Given the description of an element on the screen output the (x, y) to click on. 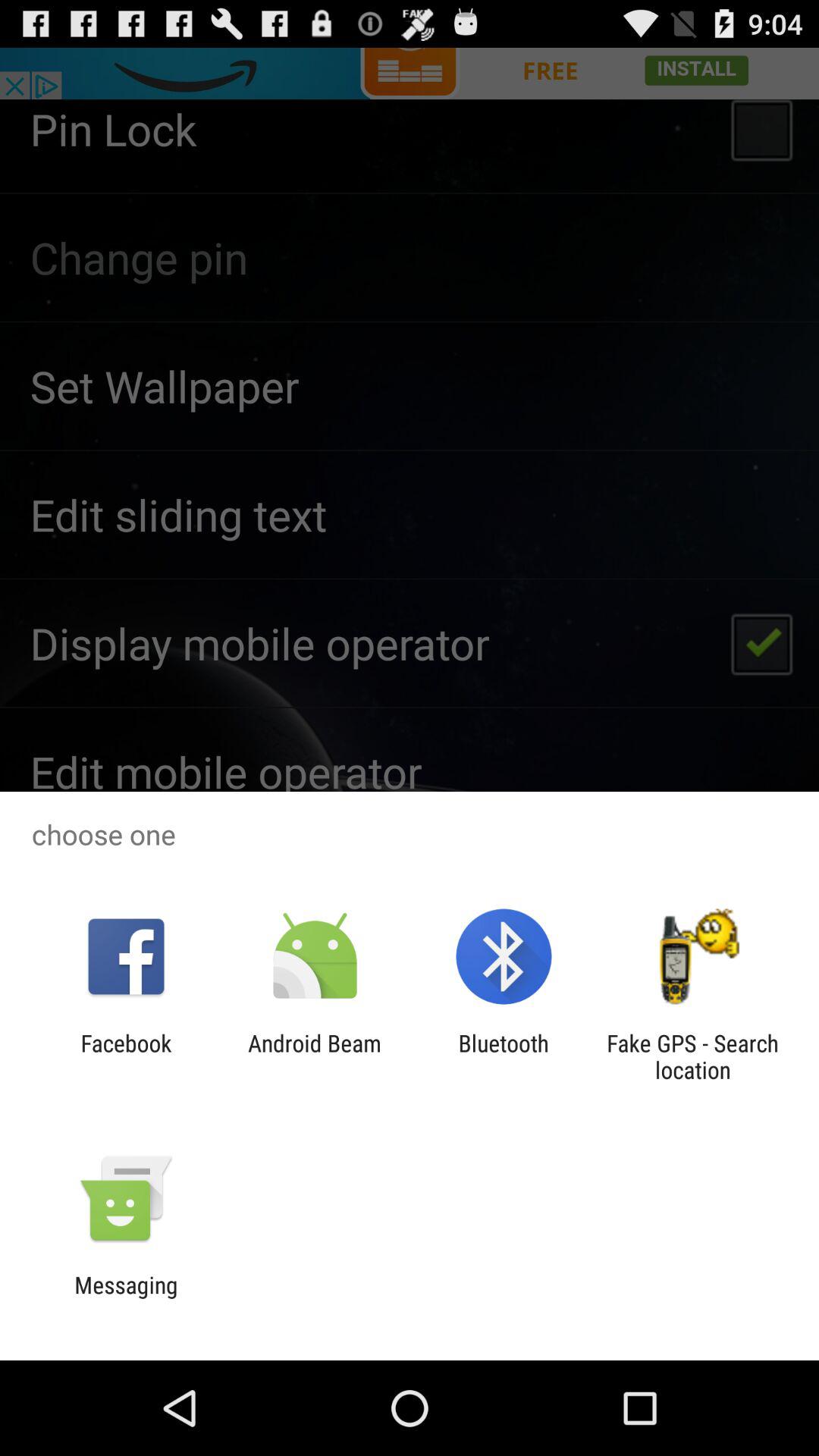
launch the icon next to the android beam (125, 1056)
